Given the description of an element on the screen output the (x, y) to click on. 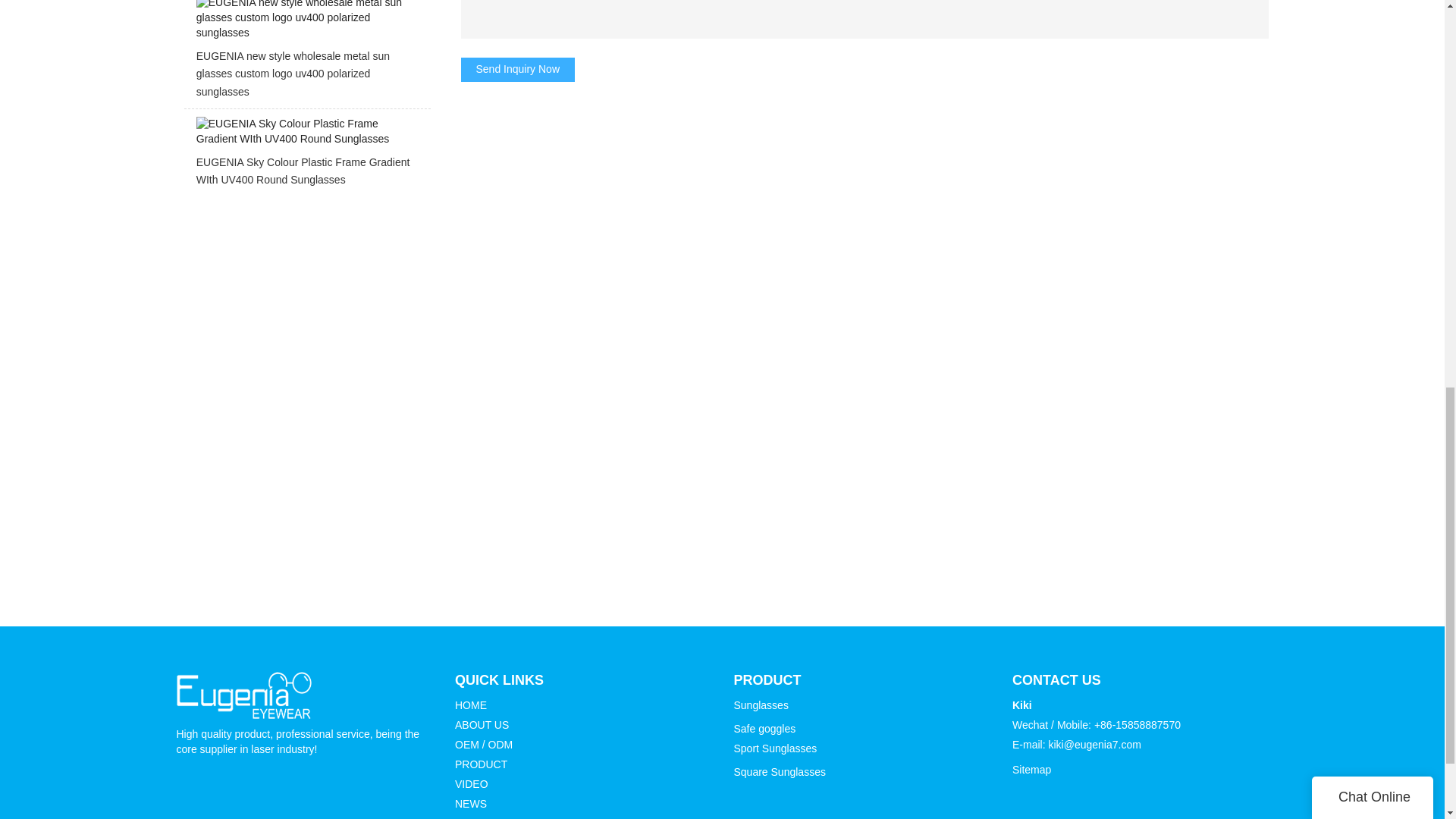
Send Inquiry Now (518, 69)
